Given the description of an element on the screen output the (x, y) to click on. 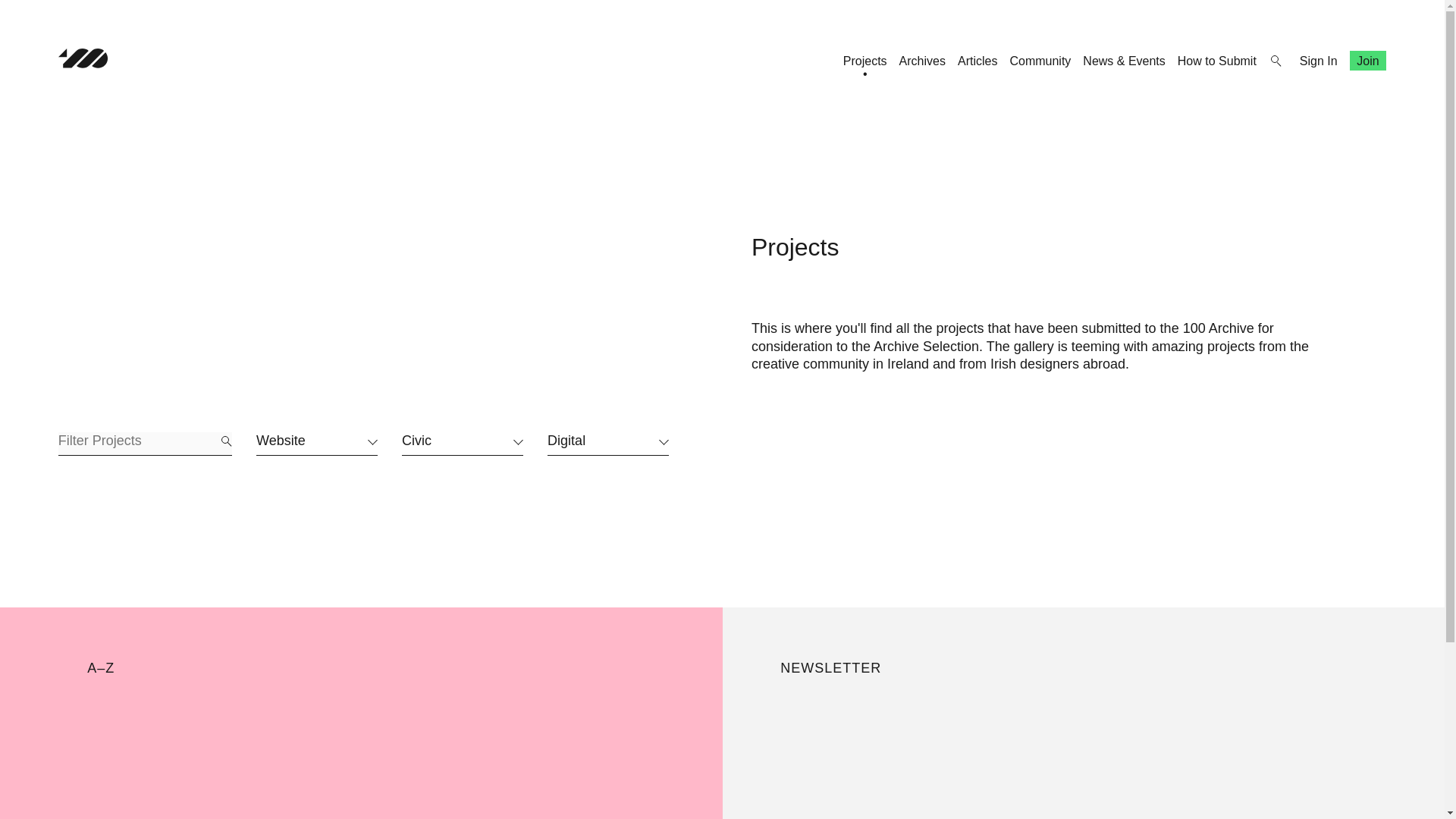
Sign In (1319, 60)
Website (316, 443)
Civic (461, 443)
Archives (921, 60)
Join (1368, 60)
Articles (977, 60)
Projects (864, 60)
Community (1039, 60)
How to Submit (1216, 60)
